Given the description of an element on the screen output the (x, y) to click on. 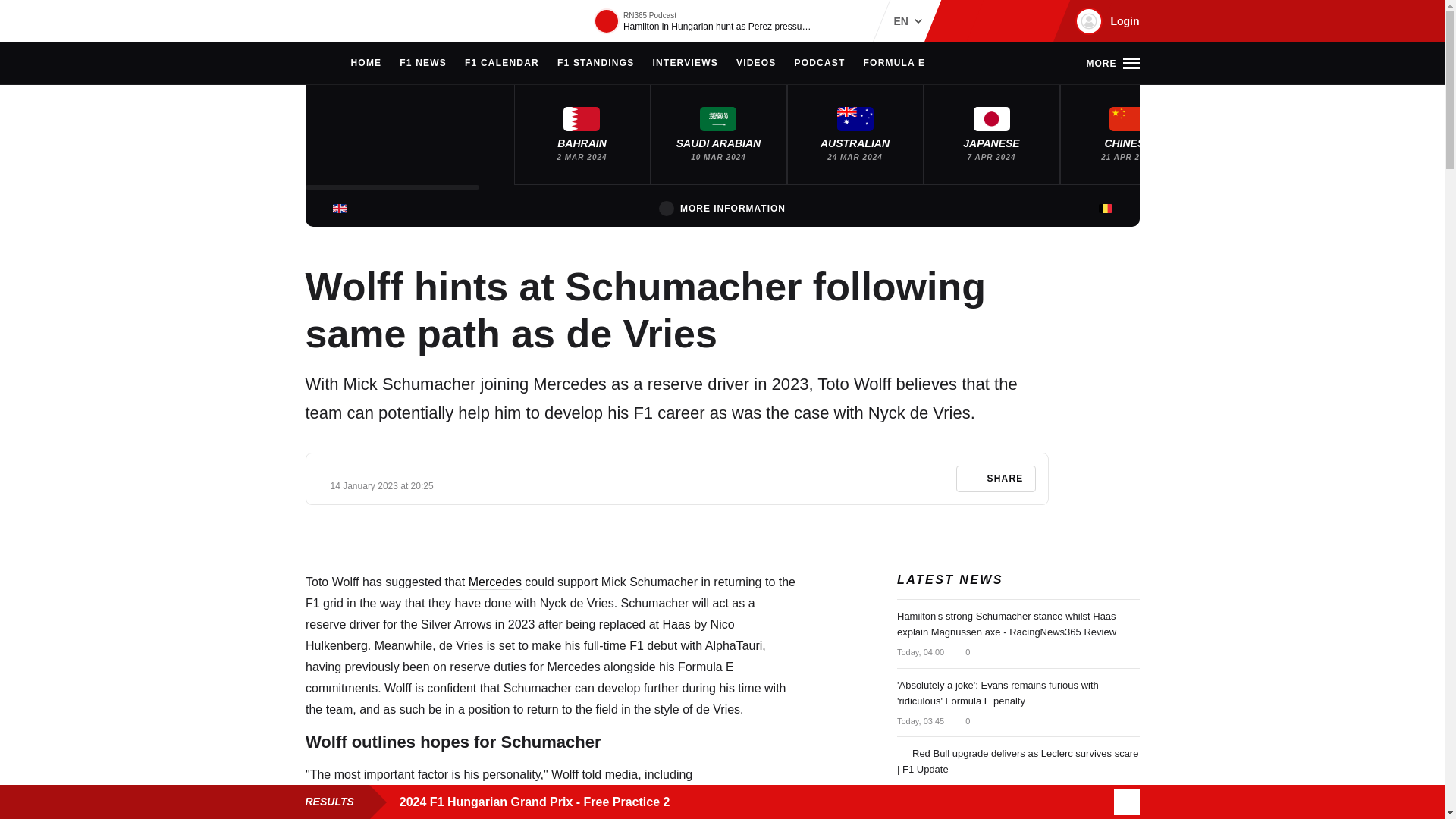
RacingNews365 on X (1010, 21)
F1 NEWS (422, 63)
RacingNews365 on YouTube (1034, 21)
INTERVIEWS (684, 63)
RacingNews365 on Instagram (962, 21)
F1 CALENDAR (501, 63)
RacingNews365 on Facebook (986, 21)
Login (1104, 21)
RacingNews365 (350, 21)
Saturday 14 January 2023 at 20:25 (381, 485)
MORE INFORMATION (722, 208)
VIDEOS (756, 63)
FORMULA E (894, 63)
F1 STANDINGS (595, 63)
PODCAST (818, 63)
